Given the description of an element on the screen output the (x, y) to click on. 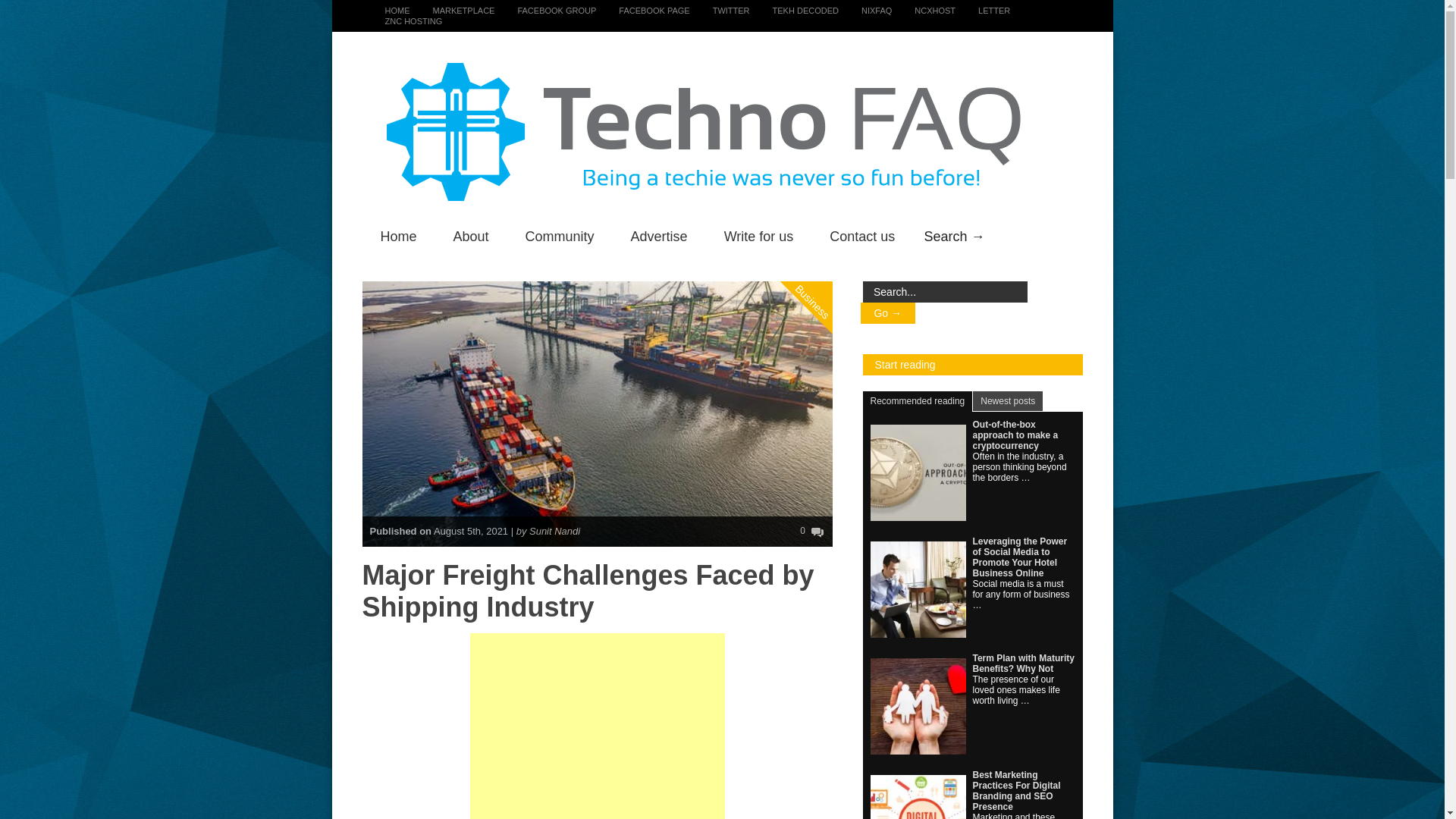
ZNC HOSTING (402, 20)
LETTER (982, 10)
Contact us (861, 237)
Business (828, 239)
NIXFAQ (864, 10)
Advertisement (597, 726)
Recommended reading (917, 401)
Search... (945, 291)
Advertise (659, 237)
MARKETPLACE (452, 10)
TEKH DECODED (793, 10)
About (470, 237)
HOME (386, 10)
Write for us (759, 237)
Home (398, 237)
